Given the description of an element on the screen output the (x, y) to click on. 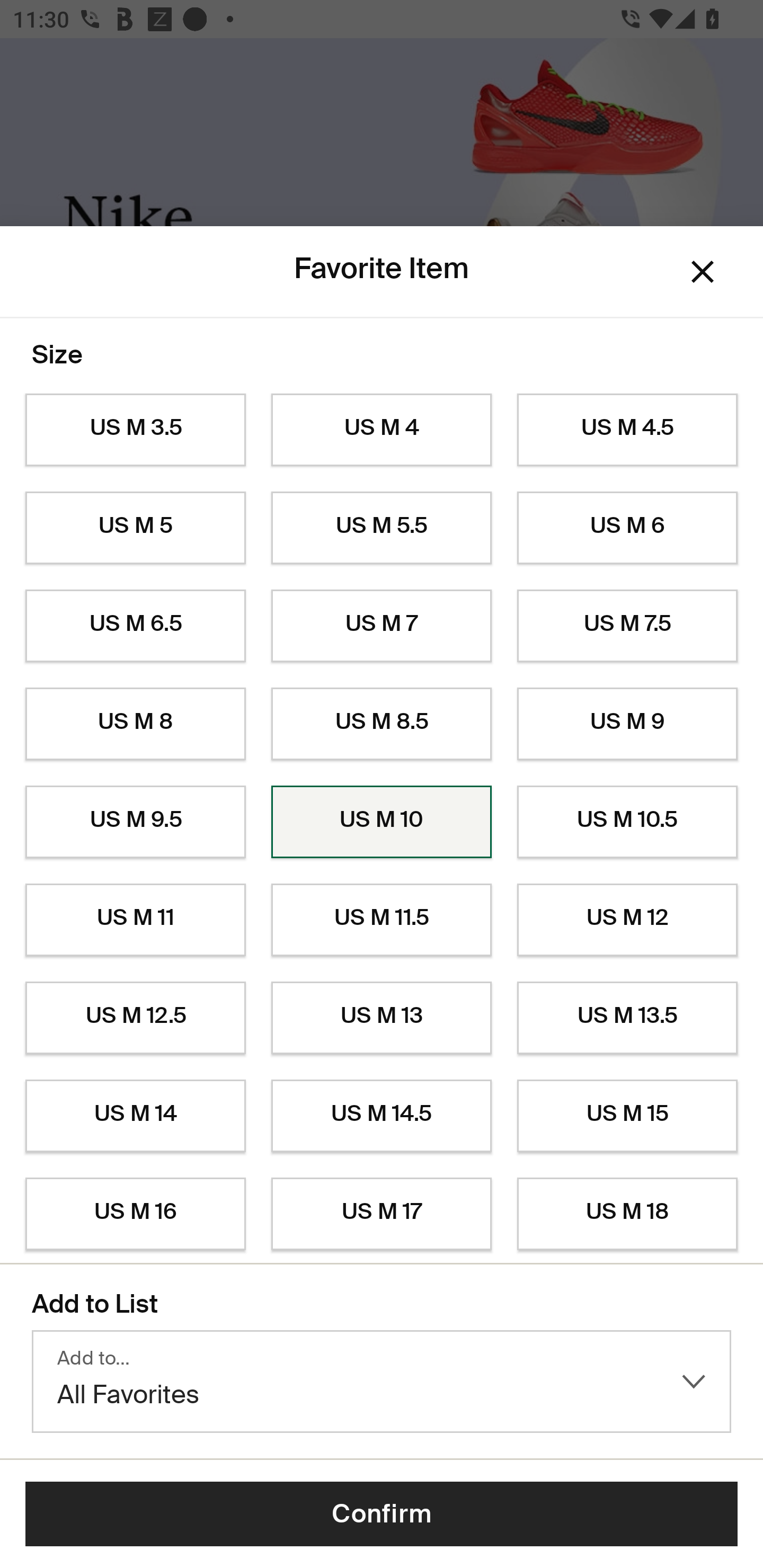
Dismiss (702, 271)
US M 3.5 (135, 430)
US M 4 (381, 430)
US M 4.5 (627, 430)
US M 5 (135, 527)
US M 5.5 (381, 527)
US M 6 (627, 527)
US M 6.5 (135, 626)
US M 7 (381, 626)
US M 7.5 (627, 626)
US M 8 (135, 724)
US M 8.5 (381, 724)
US M 9 (627, 724)
US M 9.5 (135, 822)
US M 10 (381, 822)
US M 10.5 (627, 822)
US M 11 (135, 919)
US M 11.5 (381, 919)
US M 12 (627, 919)
US M 12.5 (135, 1018)
US M 13 (381, 1018)
US M 13.5 (627, 1018)
US M 14 (135, 1116)
US M 14.5 (381, 1116)
US M 15 (627, 1116)
US M 16 (135, 1214)
US M 17 (381, 1214)
US M 18 (627, 1214)
Add to… All Favorites (381, 1381)
Confirm (381, 1513)
